Given the description of an element on the screen output the (x, y) to click on. 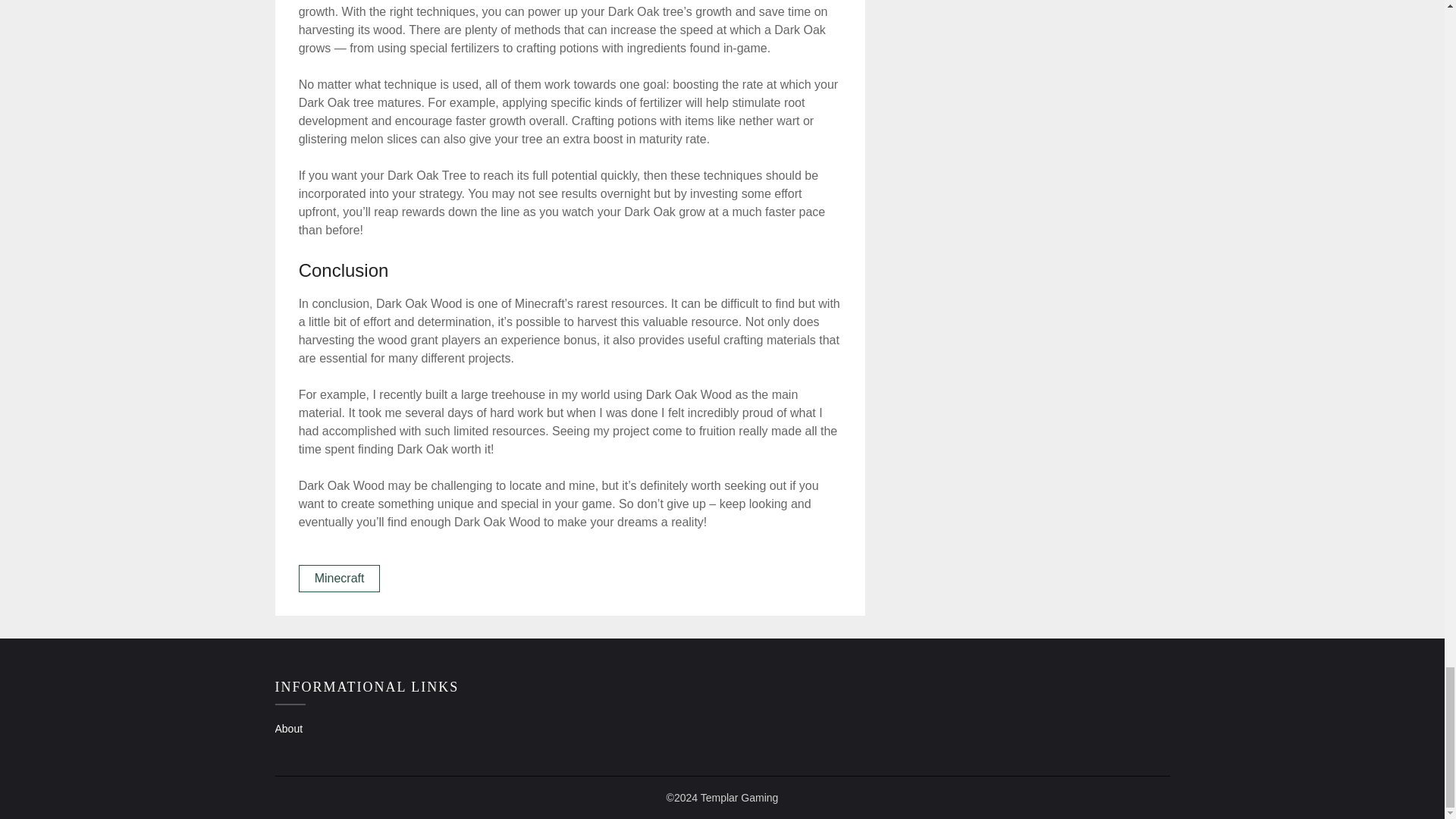
About (288, 728)
Minecraft (339, 577)
